Given the description of an element on the screen output the (x, y) to click on. 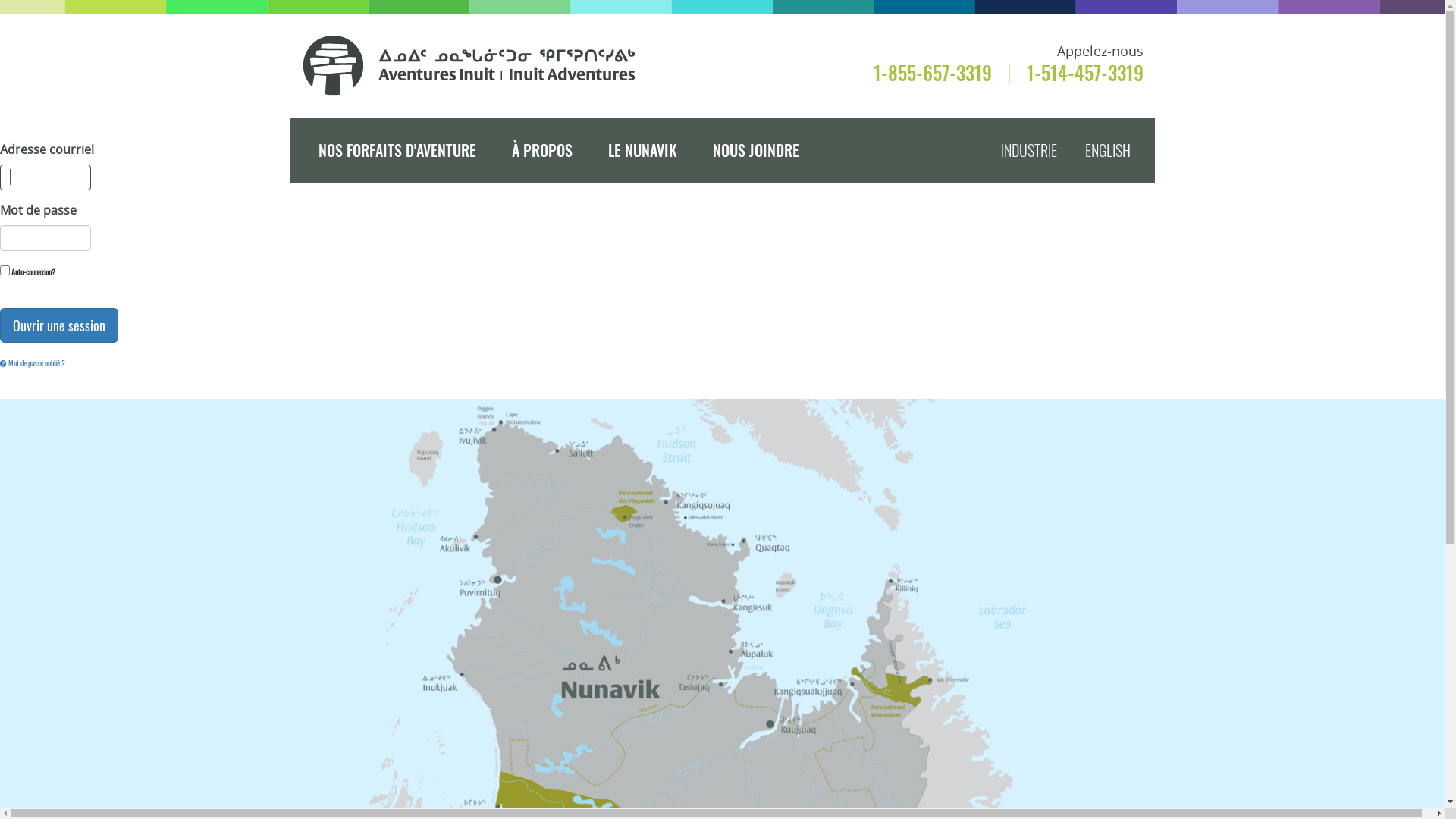
1-514-457-3319 Element type: text (1084, 72)
Aventures Inuit | Inuit Adventures Element type: hover (470, 65)
INDUSTRIE Element type: text (1041, 150)
NOUS JOINDRE Element type: text (755, 150)
Ouvrir une session Element type: text (59, 324)
on Element type: text (4, 270)
LE NUNAVIK Element type: text (642, 150)
NOS FORFAITS D'AVENTURE Element type: text (397, 150)
ENGLISH Element type: text (1119, 150)
1-855-657-3319 Element type: text (932, 72)
